Given the description of an element on the screen output the (x, y) to click on. 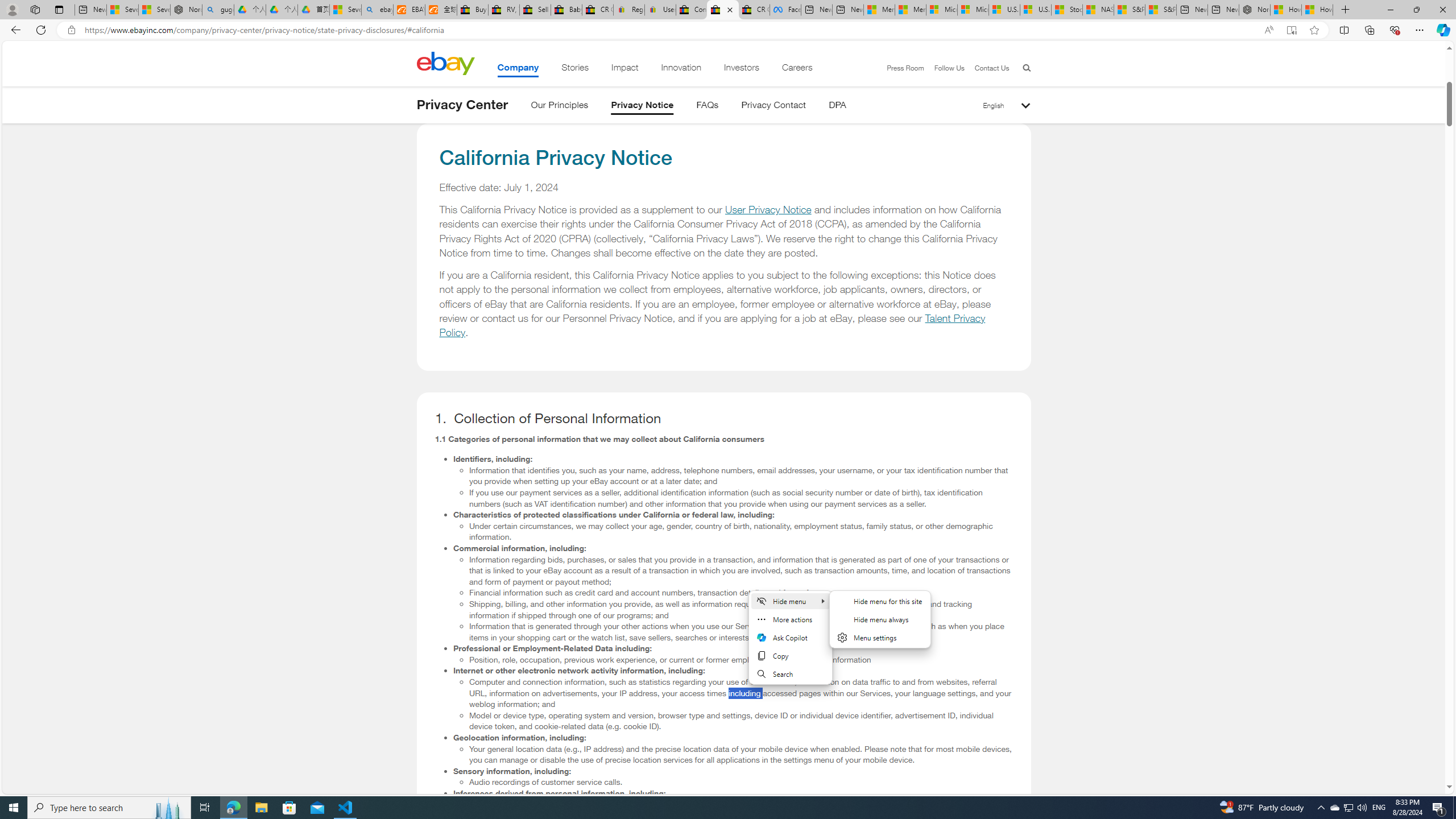
App bar (728, 29)
Hide menu (879, 625)
How to Use a Monitor With Your Closed Laptop (1317, 9)
Hide menu (879, 619)
ebay - Search (376, 9)
Hide menu always (879, 619)
Facebook (785, 9)
RV, Trailer & Camper Steps & Ladders for sale | eBay (503, 9)
Enter Immersive Reader (F9) (1291, 29)
U.S. State Privacy Disclosures - eBay Inc. (722, 9)
